Given the description of an element on the screen output the (x, y) to click on. 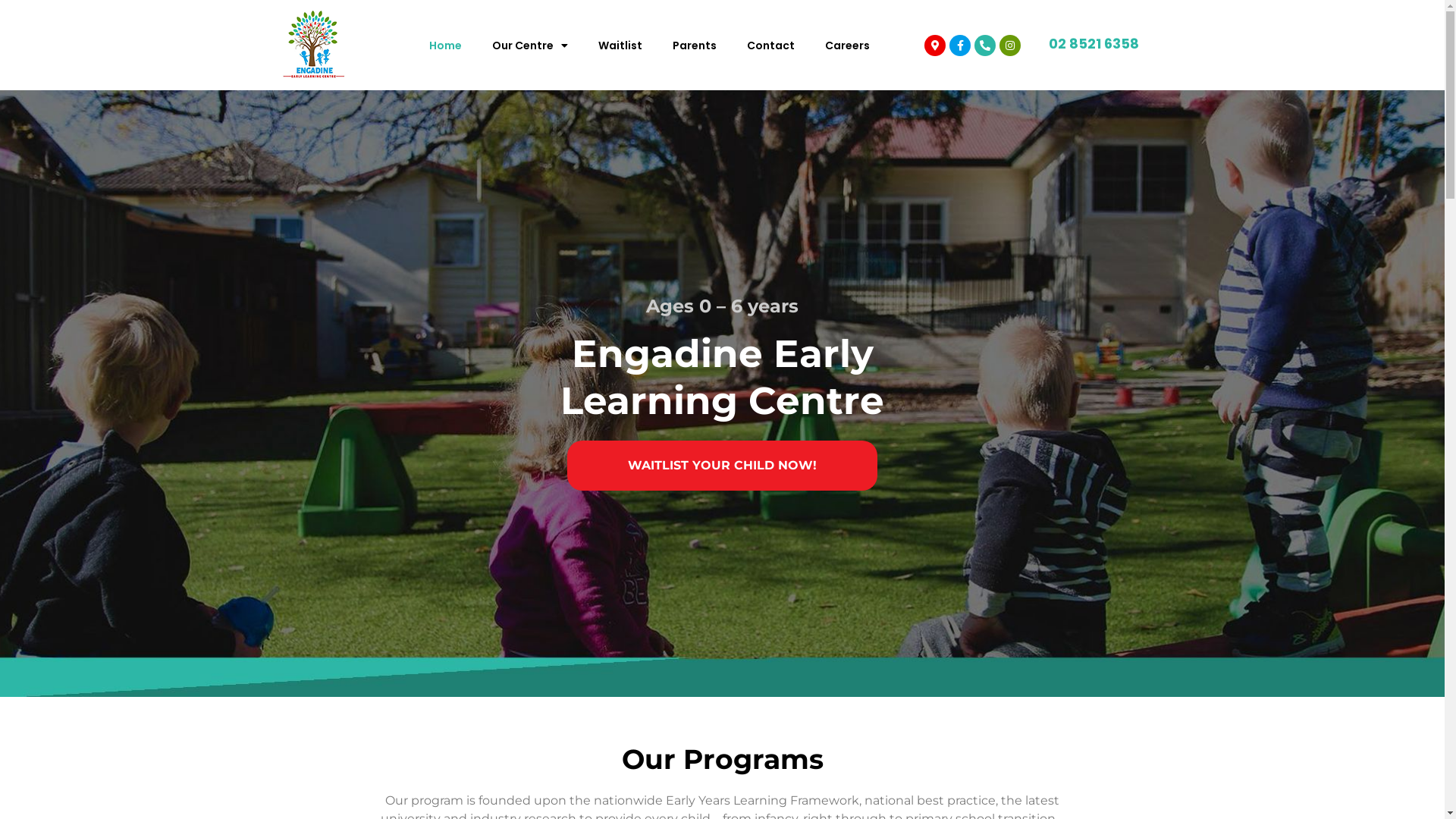
Parents Element type: text (694, 44)
WAITLIST YOUR CHILD NOW! Element type: text (722, 464)
02 8521 6358 Element type: text (1093, 42)
Waitlist Element type: text (620, 44)
Instagram Element type: text (1009, 45)
Careers Element type: text (846, 44)
Phone-alt Element type: text (984, 45)
Our Centre Element type: text (529, 44)
Home Element type: text (445, 44)
Contact Element type: text (770, 44)
Map-marker-alt Element type: text (934, 45)
Facebook-f Element type: text (959, 45)
